Given the description of an element on the screen output the (x, y) to click on. 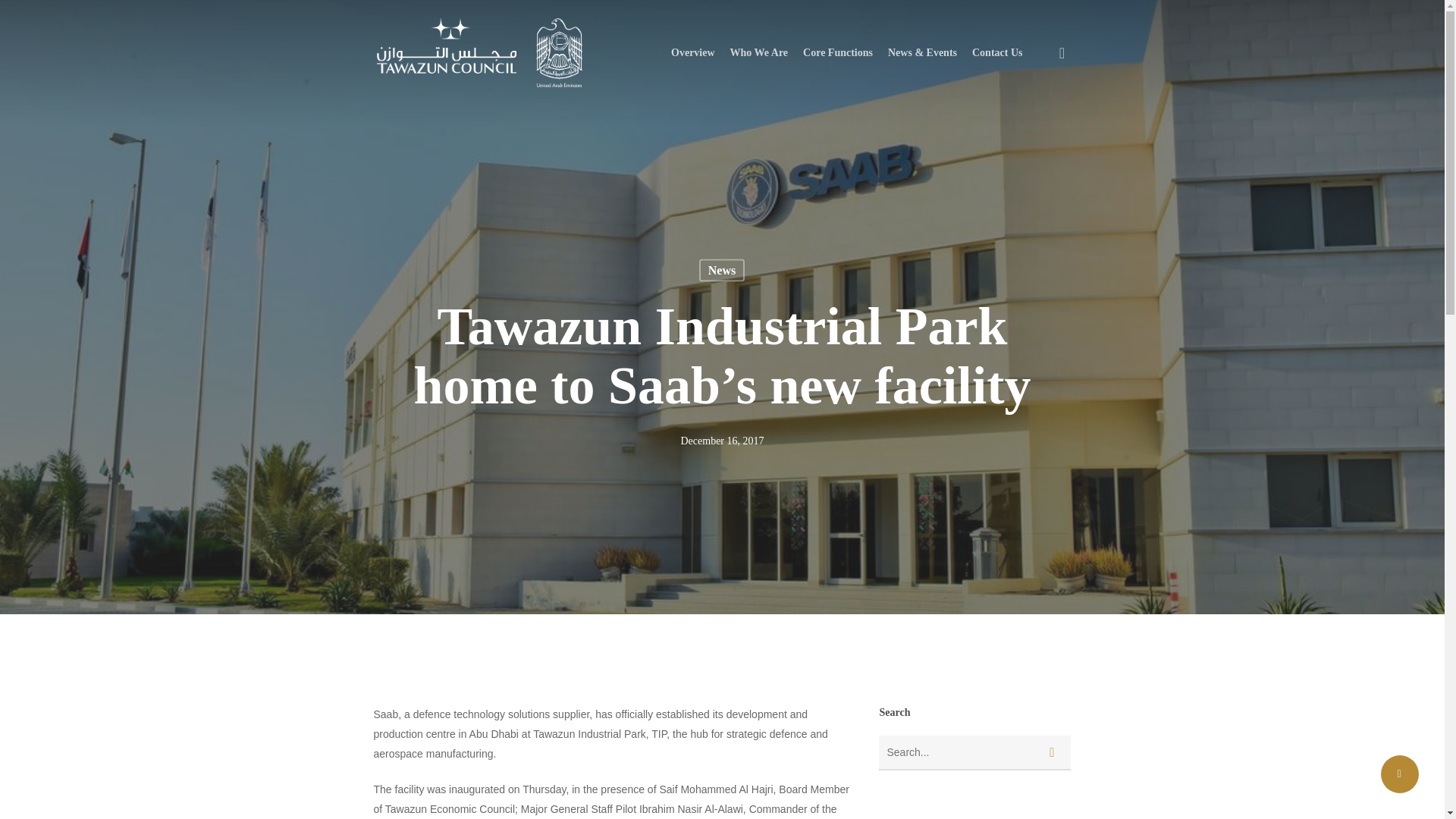
Core Functions (837, 52)
search (1061, 53)
Contact Us (997, 52)
Tawazun Economic Program (811, 561)
CONTACT US (956, 545)
Regulations (811, 670)
READ MORE (588, 697)
Who We Are (759, 52)
Search for: (974, 752)
News (721, 270)
TAWAZUN ETHICS LINE (974, 599)
Acquisitions Management (811, 537)
Overview (692, 52)
Standards and quality assurance (811, 637)
